Given the description of an element on the screen output the (x, y) to click on. 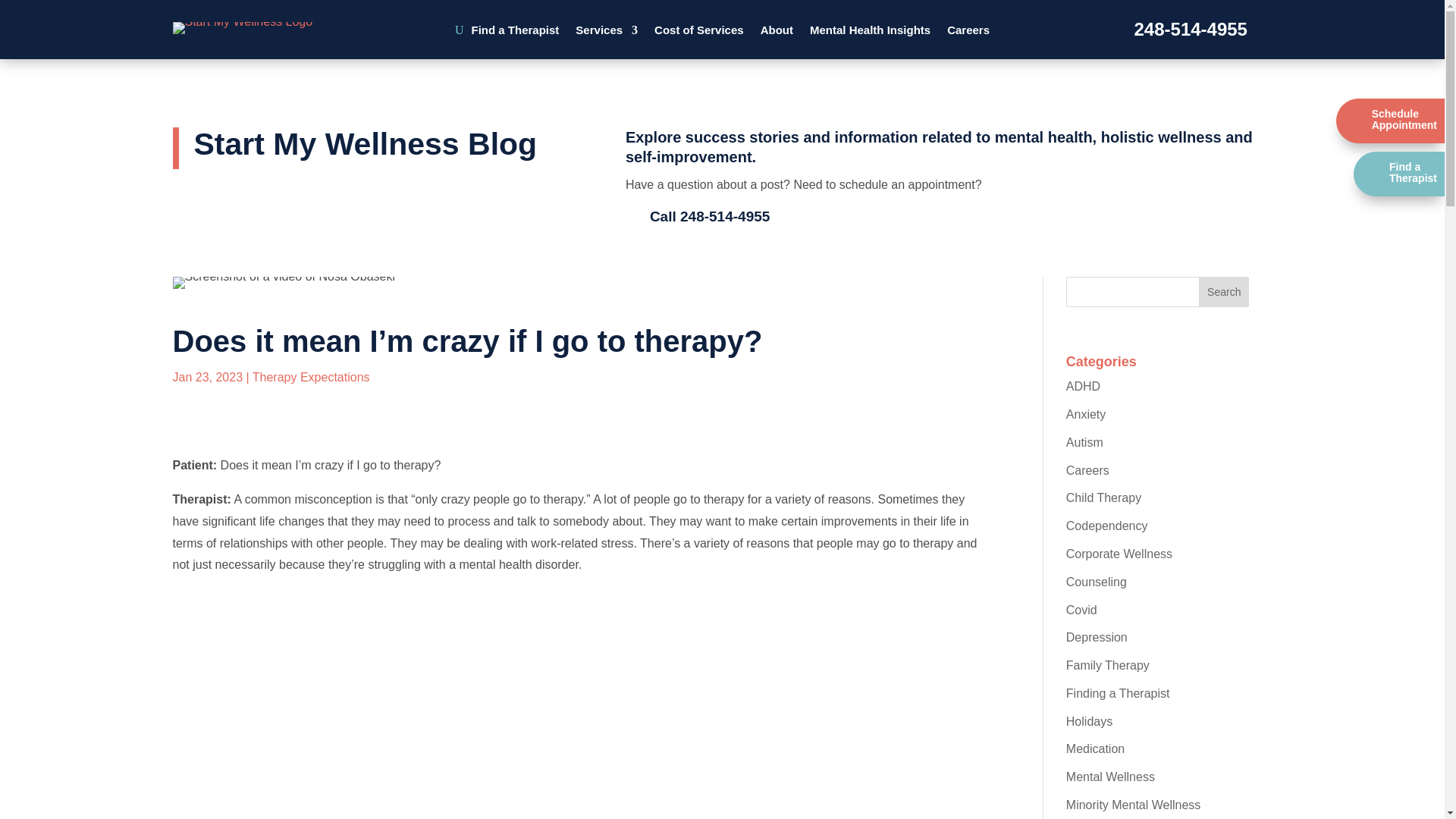
Careers (968, 33)
My-project-38 copy (284, 282)
Therapy Expectations (310, 377)
Services (606, 33)
Cost of Services (698, 33)
About (776, 33)
Find a Therapist (515, 33)
Go to Homepage (243, 27)
Search (1223, 291)
Mental Health Insights (869, 33)
